Given the description of an element on the screen output the (x, y) to click on. 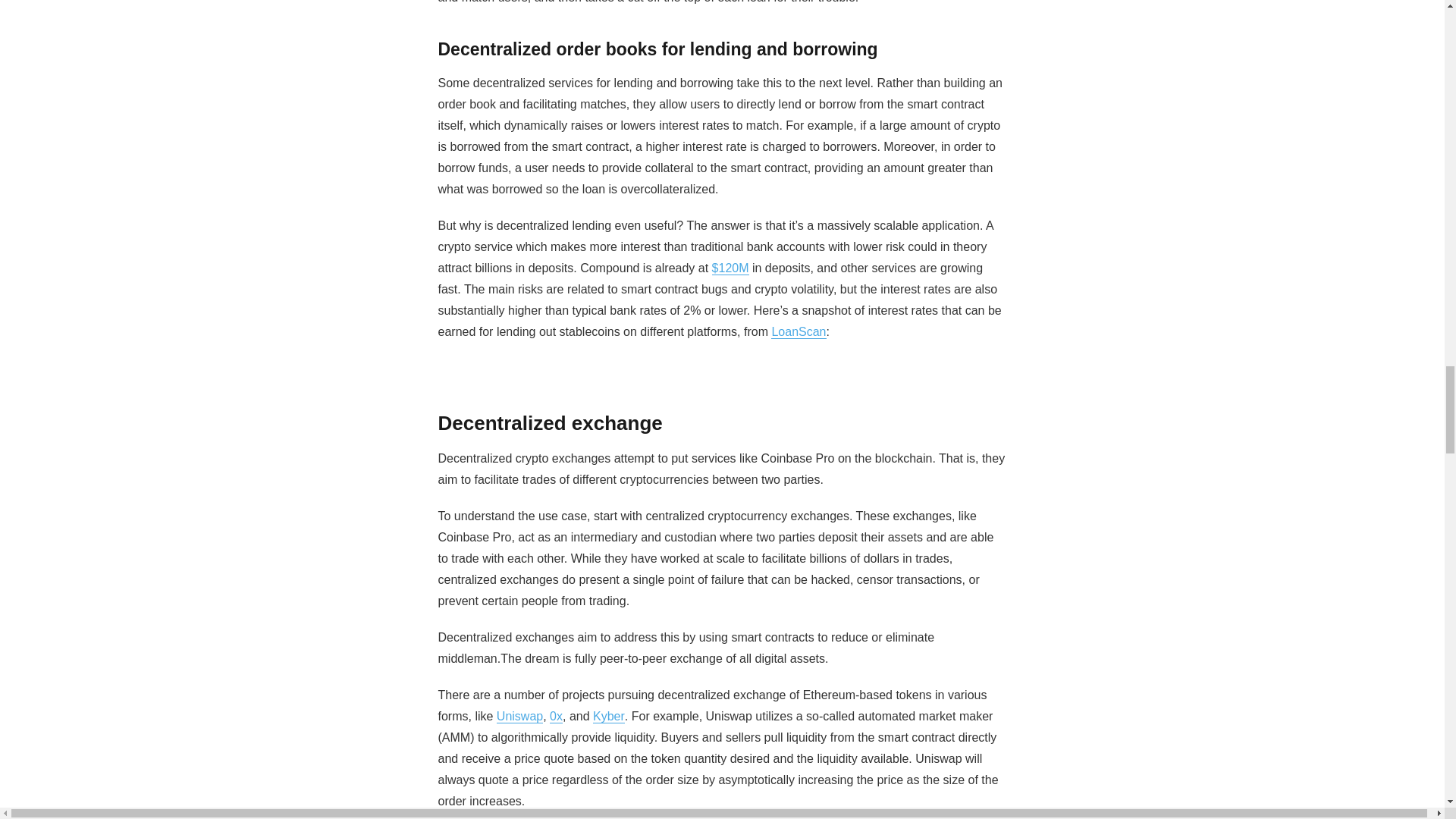
LoanScan (798, 331)
0x (556, 716)
Kyber (608, 716)
Uniswap (519, 716)
